Given the description of an element on the screen output the (x, y) to click on. 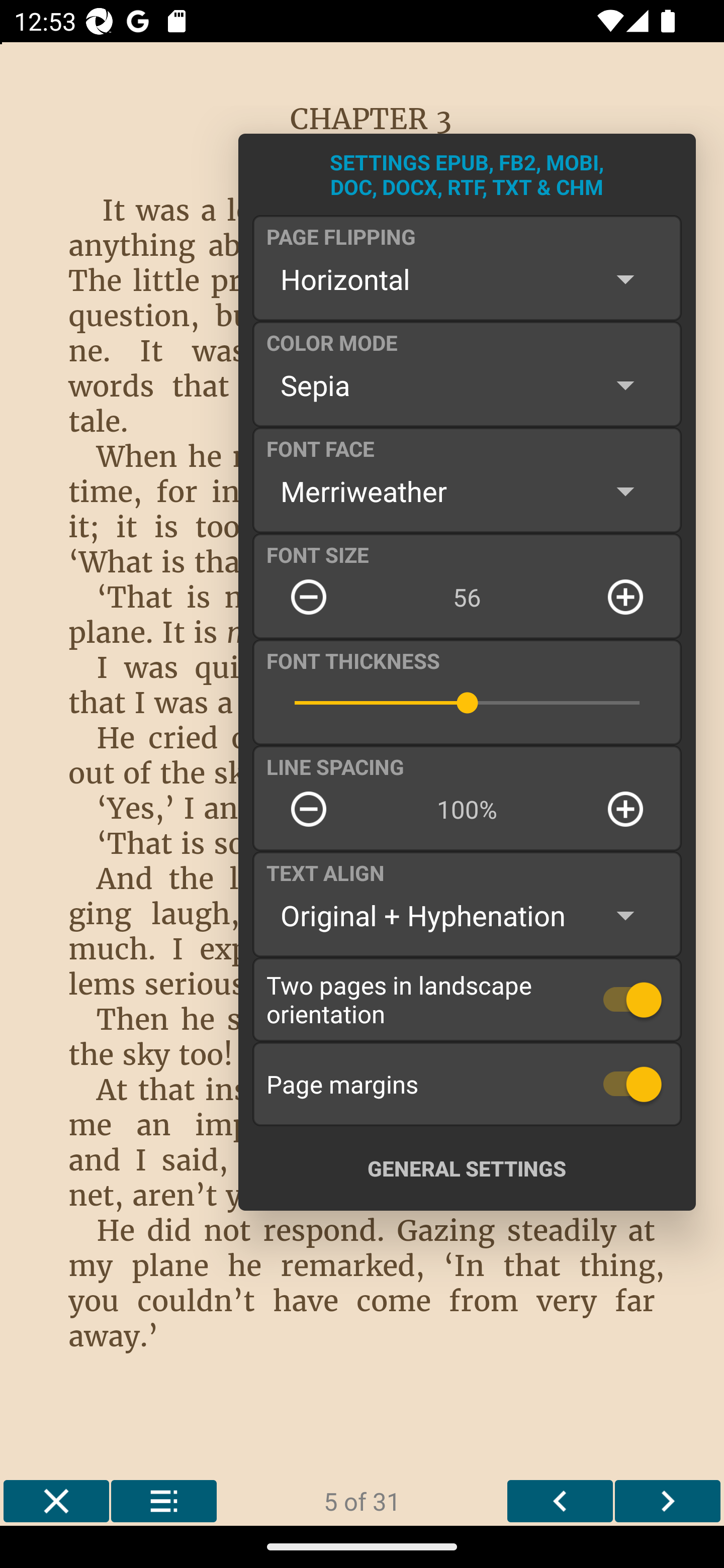
Horizontal (466, 278)
Sepia (466, 384)
Merriweather (466, 490)
Original + Hyphenation (466, 915)
Two pages in landscape orientation (467, 999)
Page margins (467, 1083)
GENERAL SETTINGS (466, 1167)
